Given the description of an element on the screen output the (x, y) to click on. 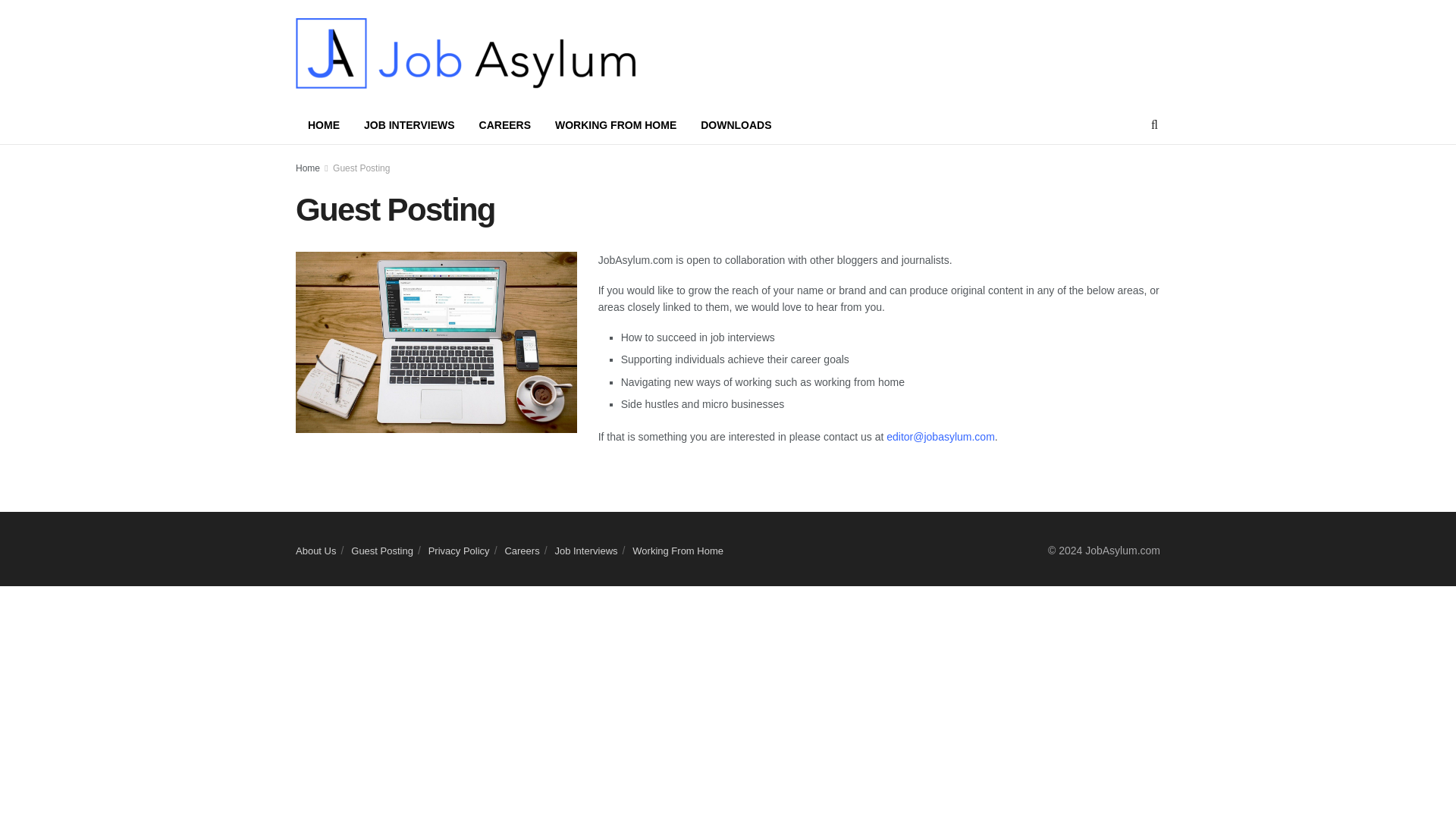
CAREERS (505, 125)
Job Interviews (585, 550)
HOME (323, 125)
DOWNLOADS (735, 125)
WORKING FROM HOME (615, 125)
Guest Posting (381, 550)
Home (307, 167)
Careers (520, 550)
Guest Posting (361, 167)
About Us (315, 550)
